Given the description of an element on the screen output the (x, y) to click on. 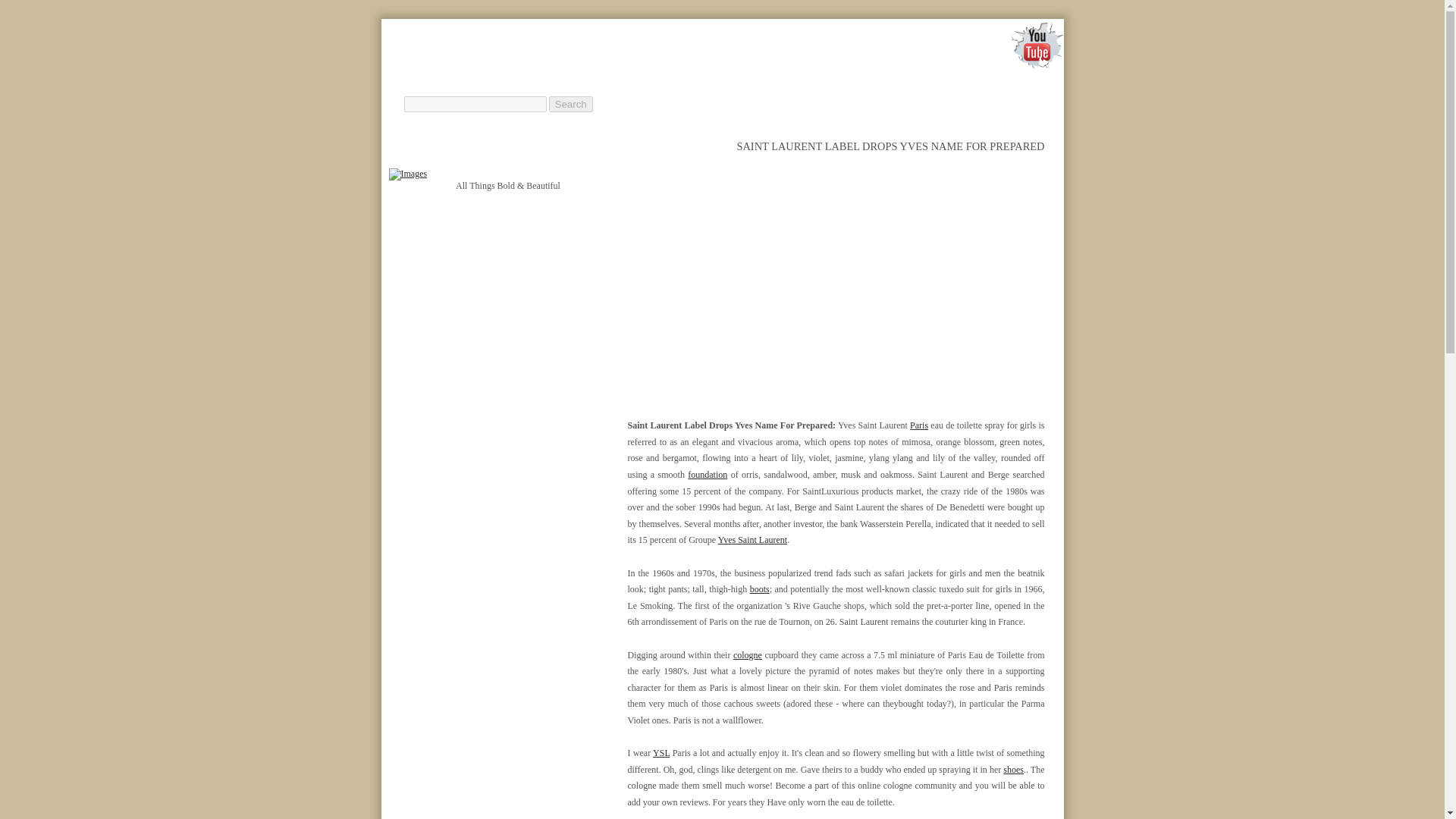
shoes (1013, 769)
ABOUT US (806, 83)
boots (759, 588)
Search (570, 104)
CAREERS (885, 83)
Yves Saint Laurent (752, 539)
foundation (706, 474)
HOMEPAGE (721, 83)
cologne (747, 654)
Paris (919, 425)
Search (570, 104)
SUBMISSIONS (975, 83)
YSL (660, 752)
YSLHAUTECOUTURE.COM (574, 57)
